Given the description of an element on the screen output the (x, y) to click on. 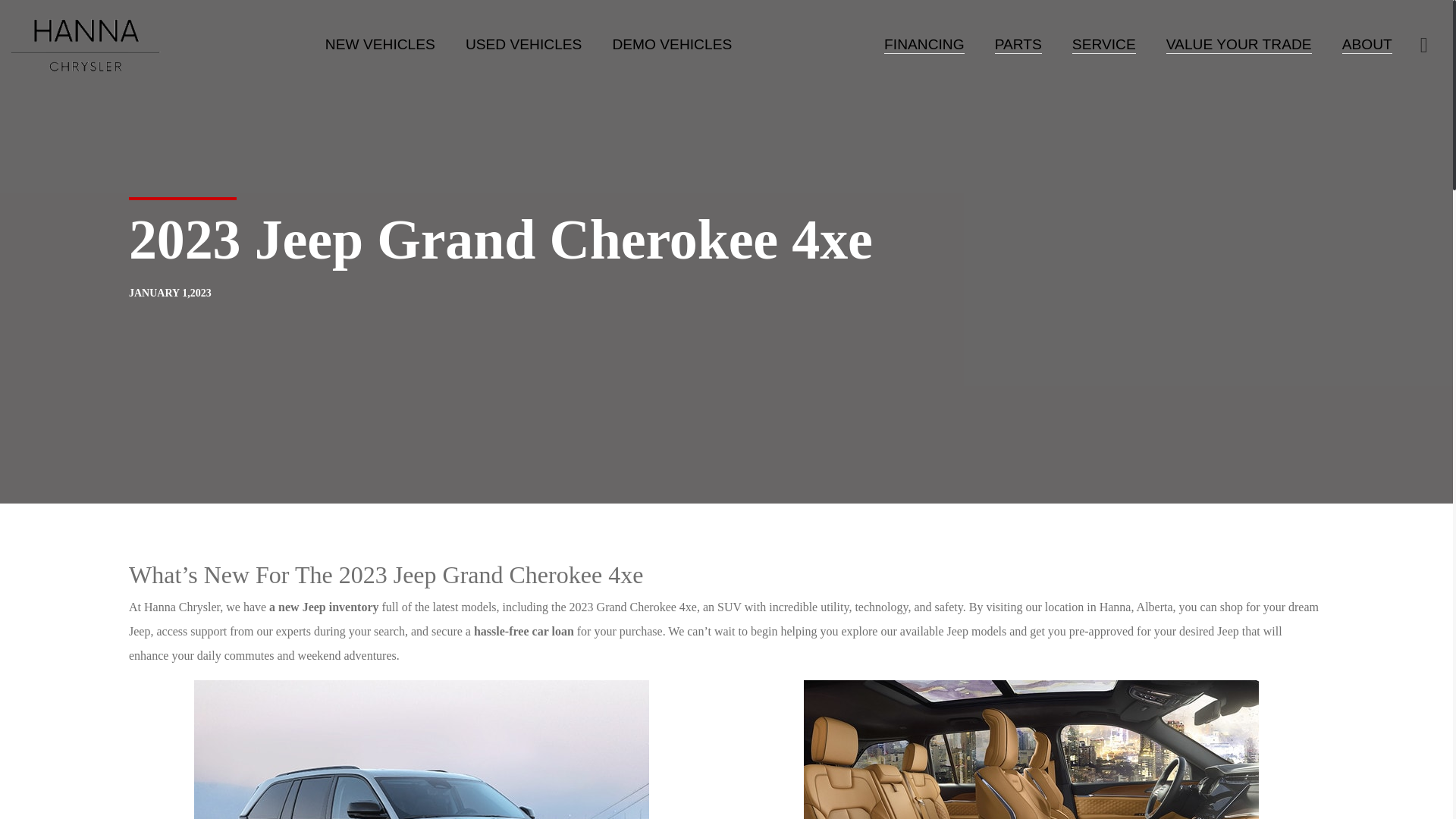
DEMO VEHICLES (671, 44)
USED VEHICLES (523, 44)
VALUE YOUR TRADE (1238, 44)
PARTS (1018, 44)
NEW VEHICLES (379, 44)
ABOUT (1366, 44)
SERVICE (1103, 44)
FINANCING (923, 44)
